Given the description of an element on the screen output the (x, y) to click on. 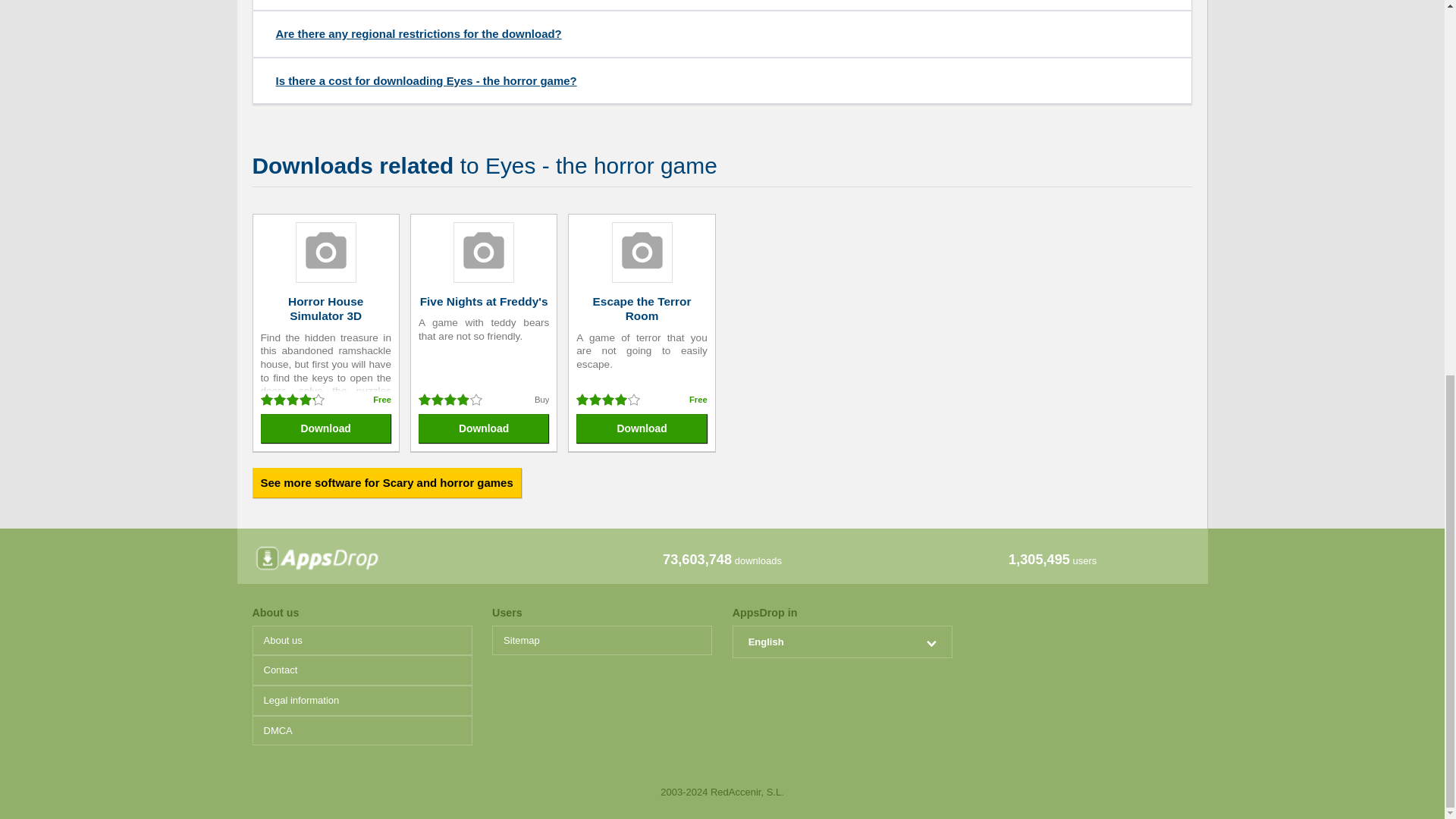
horror house simulator 3d: Software of Scary and horror (325, 253)
Contact (361, 670)
Download (325, 429)
horror house simulator 3d: Software of Scary and horror (325, 308)
five nights freddy: Software of Scary and horror games (483, 301)
Download (641, 429)
Legal information (361, 700)
Download (483, 429)
Sitemap (601, 640)
DMCA (361, 730)
